Given the description of an element on the screen output the (x, y) to click on. 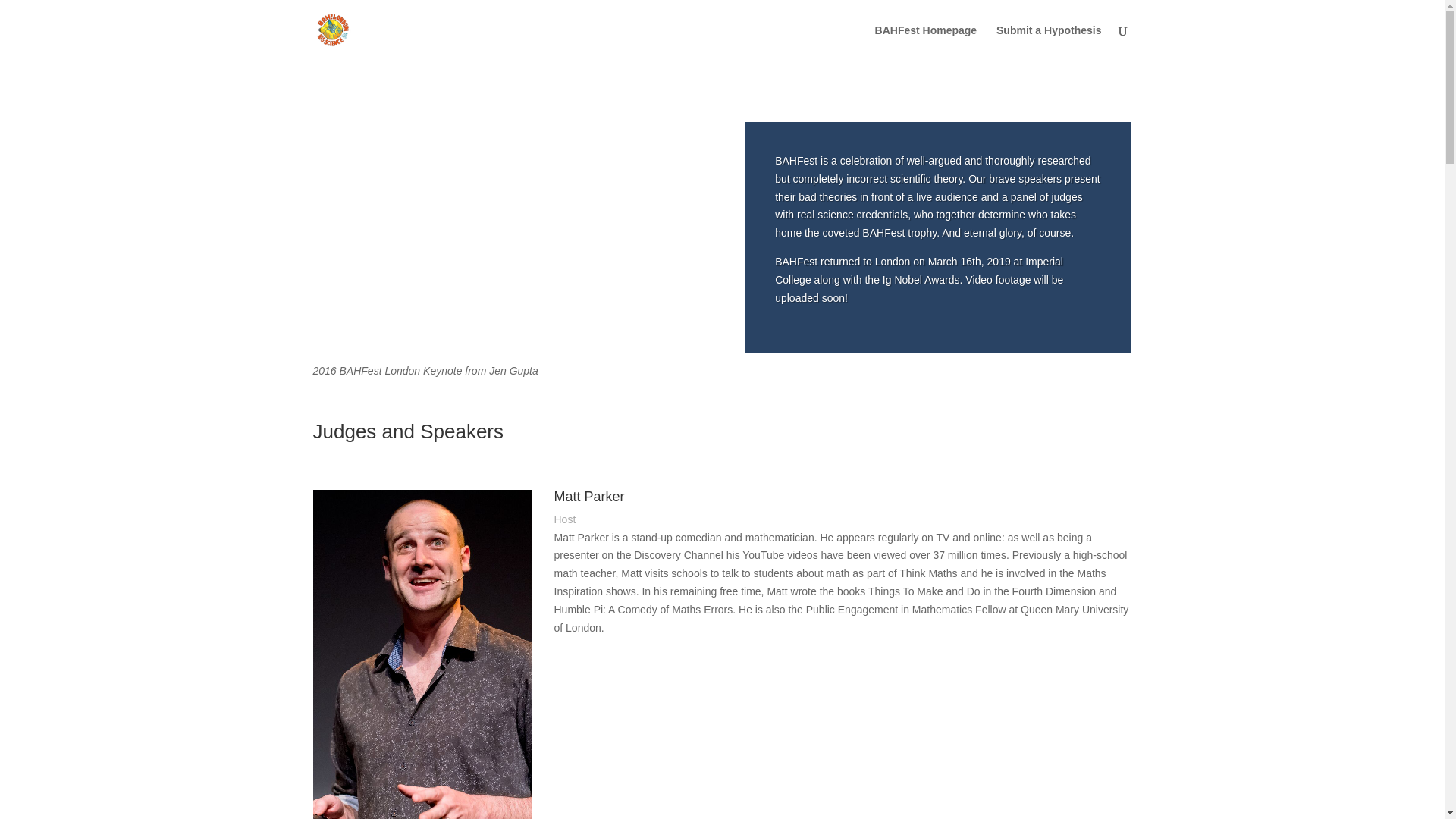
BAHFest London - Big Science - Jen Gupta: Fixing the World (505, 230)
BAHFest Homepage (925, 42)
Submit a Hypothesis (1047, 42)
